Given the description of an element on the screen output the (x, y) to click on. 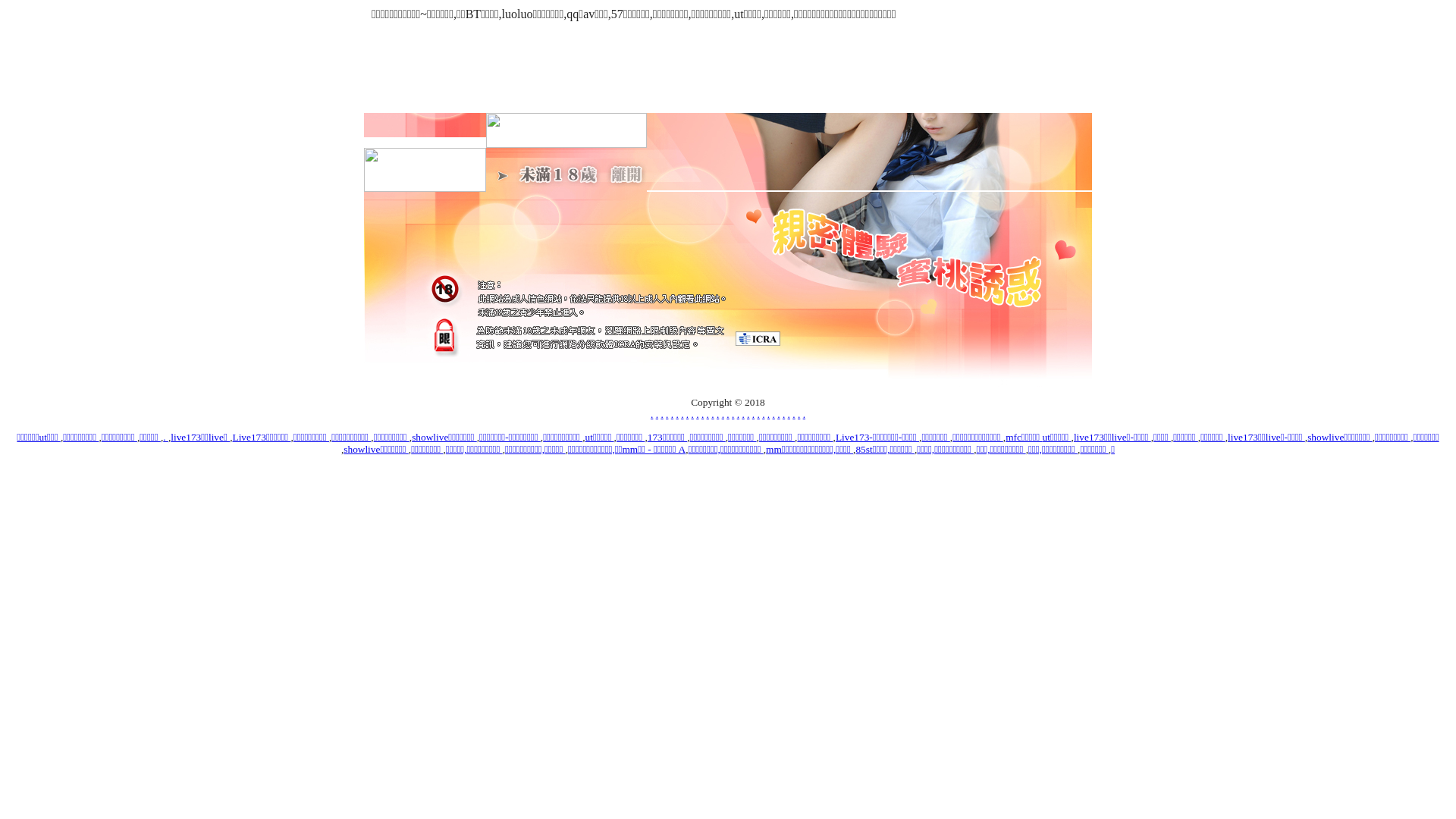
. Element type: text (661, 414)
. Element type: text (707, 414)
. Element type: text (783, 414)
. Element type: text (717, 414)
. Element type: text (651, 414)
. Element type: text (798, 414)
. Element type: text (742, 414)
. Element type: text (727, 414)
. Element type: text (768, 414)
. Element type: text (788, 414)
. Element type: text (722, 414)
. Element type: text (753, 414)
. Element type: text (712, 414)
. Element type: text (666, 414)
. Element type: text (656, 414)
. Element type: text (773, 414)
. Element type: text (757, 414)
. Element type: text (681, 414)
. Element type: text (778, 414)
. Element type: text (804, 414)
. Element type: text (165, 436)
. Element type: text (747, 414)
. Element type: text (763, 414)
. Element type: text (672, 414)
. Element type: text (697, 414)
. Element type: text (692, 414)
. Element type: text (738, 414)
. Element type: text (793, 414)
. Element type: text (676, 414)
. Element type: text (687, 414)
. Element type: text (732, 414)
. Element type: text (702, 414)
